Given the description of an element on the screen output the (x, y) to click on. 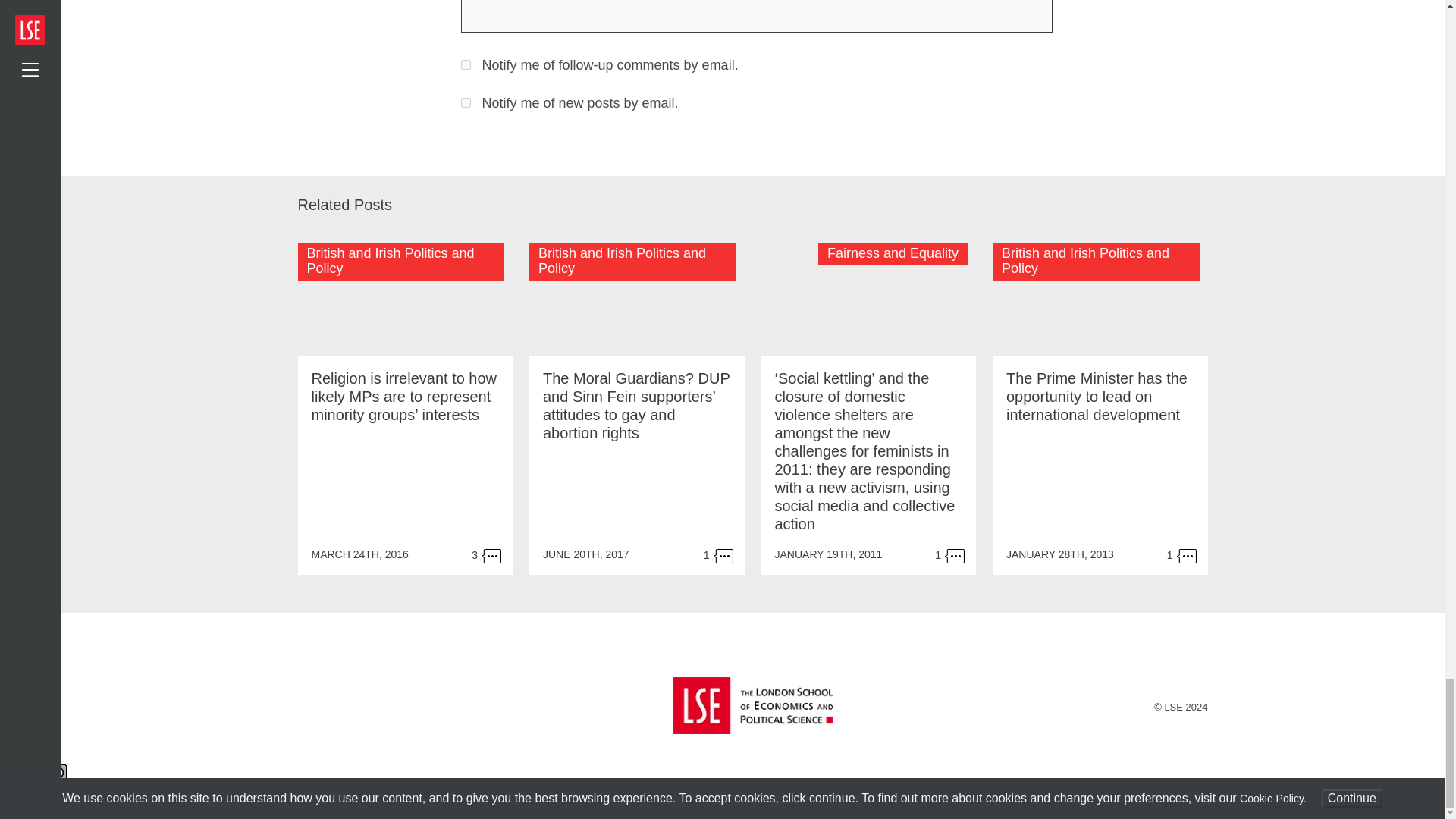
subscribe (465, 102)
subscribe (465, 64)
